Given the description of an element on the screen output the (x, y) to click on. 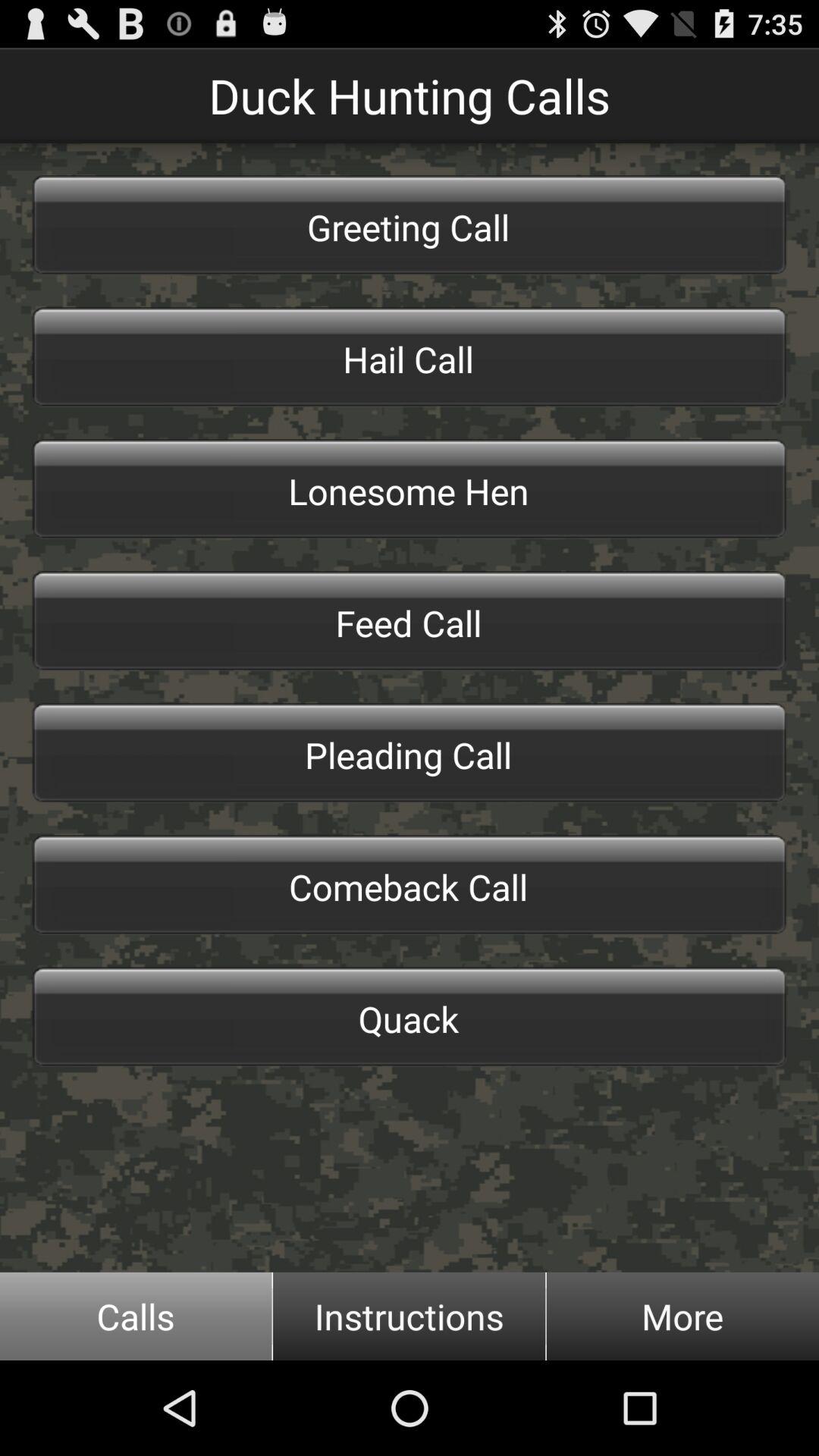
choose the pleading call item (409, 752)
